Given the description of an element on the screen output the (x, y) to click on. 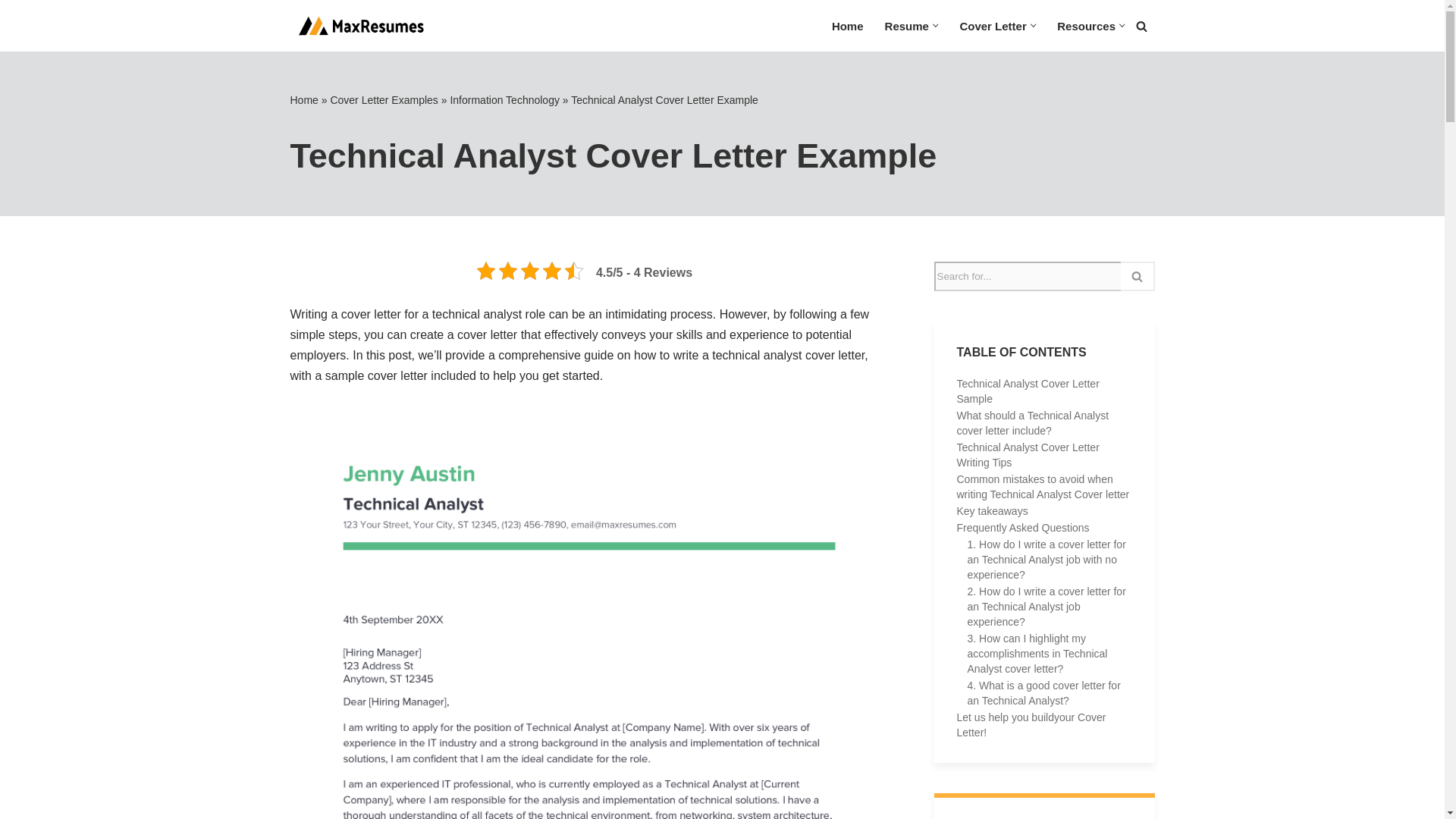
Home (847, 26)
Resume (906, 26)
Resources (1086, 26)
Skip to content (11, 31)
MaxResumes (357, 25)
Cover Letter (992, 26)
